Given the description of an element on the screen output the (x, y) to click on. 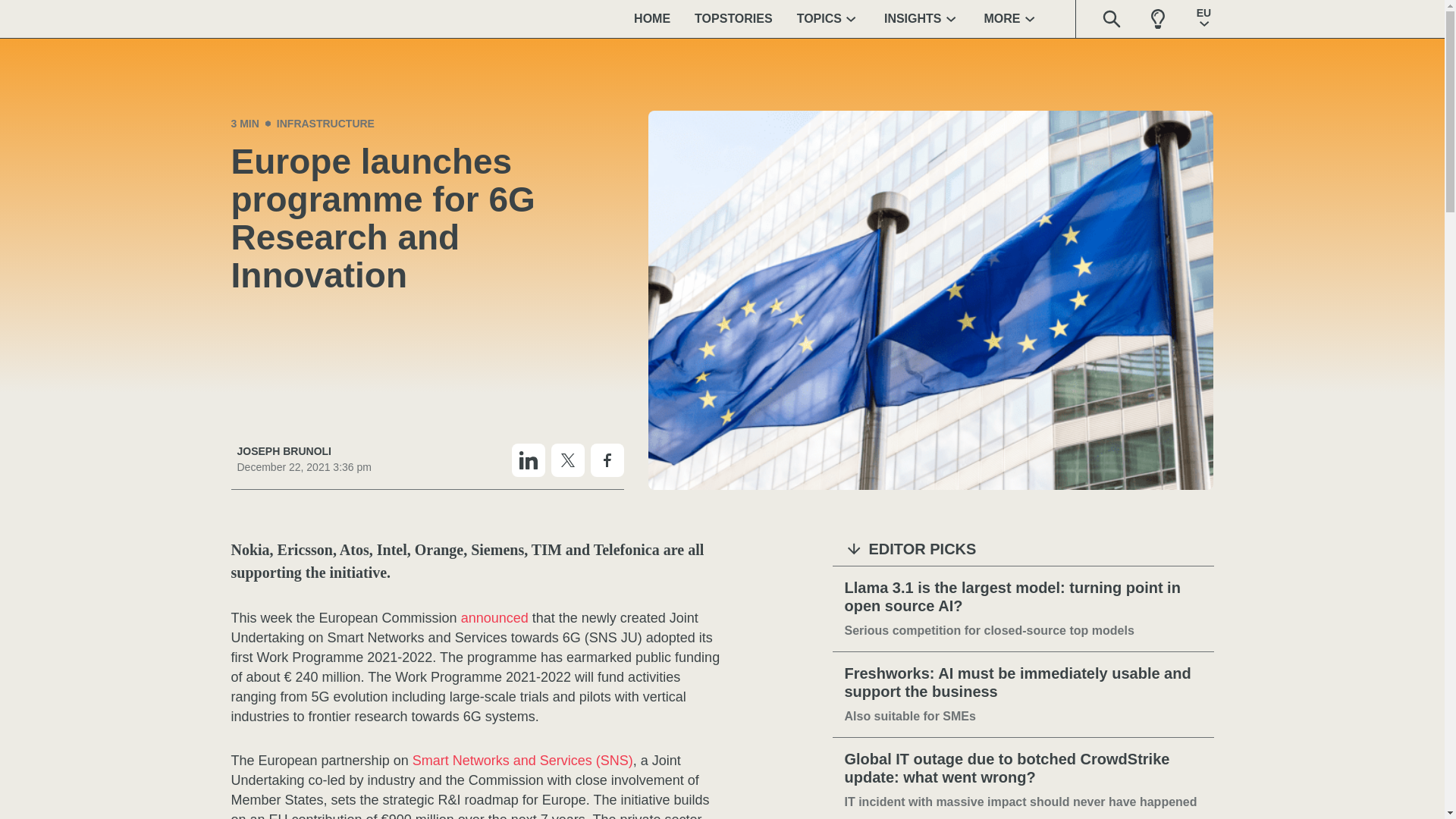
MORE (1011, 18)
INSIGHTS (922, 18)
HOME (651, 18)
JOSEPH BRUNOLI (303, 451)
TOPICS (828, 18)
INFRASTRUCTURE (325, 123)
December 22, 2021 3:36 pm (303, 467)
TOPSTORIES (733, 18)
